Given the description of an element on the screen output the (x, y) to click on. 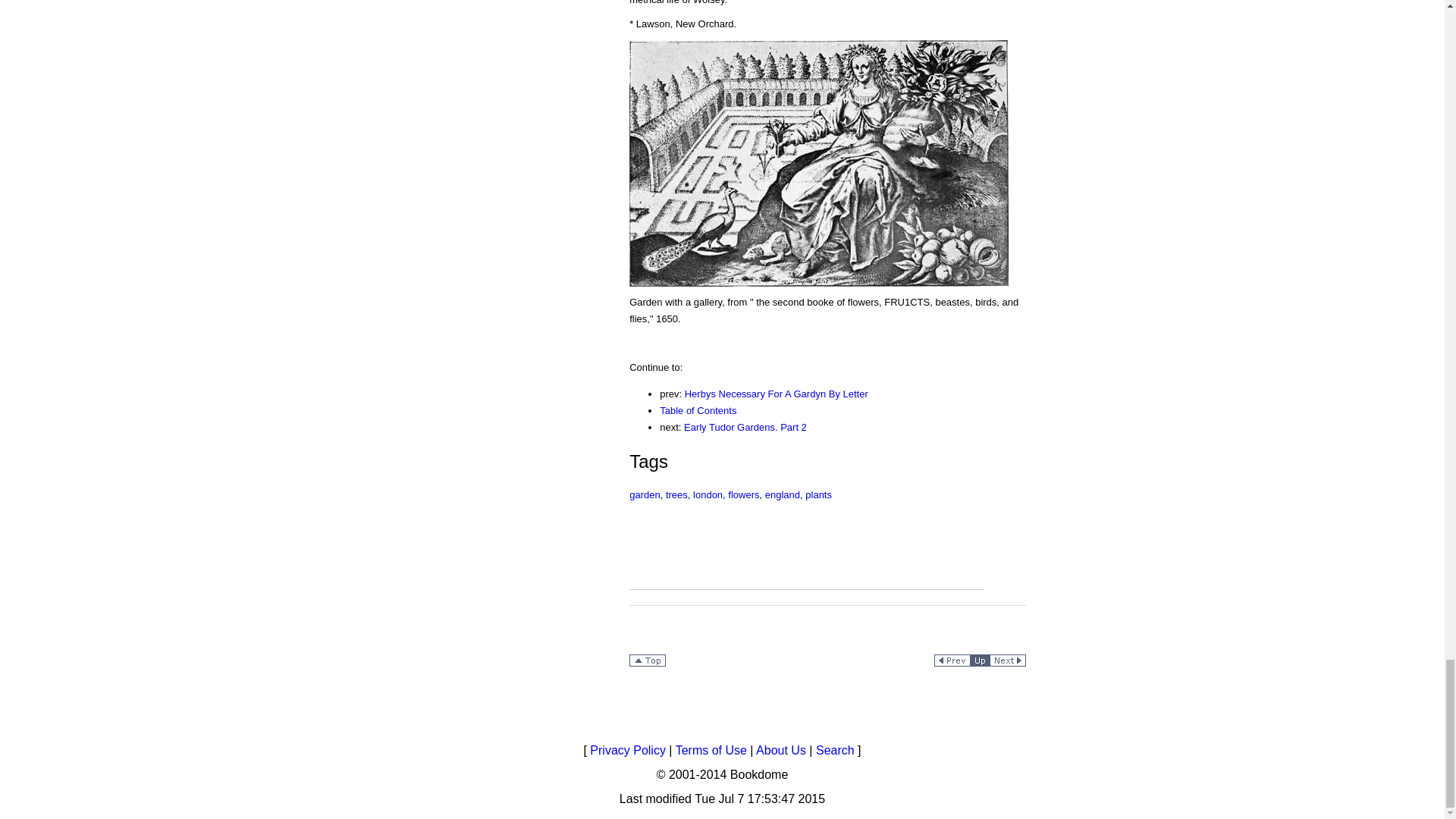
flowers (743, 494)
london (707, 494)
england (782, 494)
plants (818, 494)
Table of Contents (697, 410)
garden (643, 494)
Herbys Necessary For A Gardyn By Letter (775, 393)
trees (676, 494)
Early Tudor Gardens. Part 2 (745, 427)
Advertisement (806, 583)
